Given the description of an element on the screen output the (x, y) to click on. 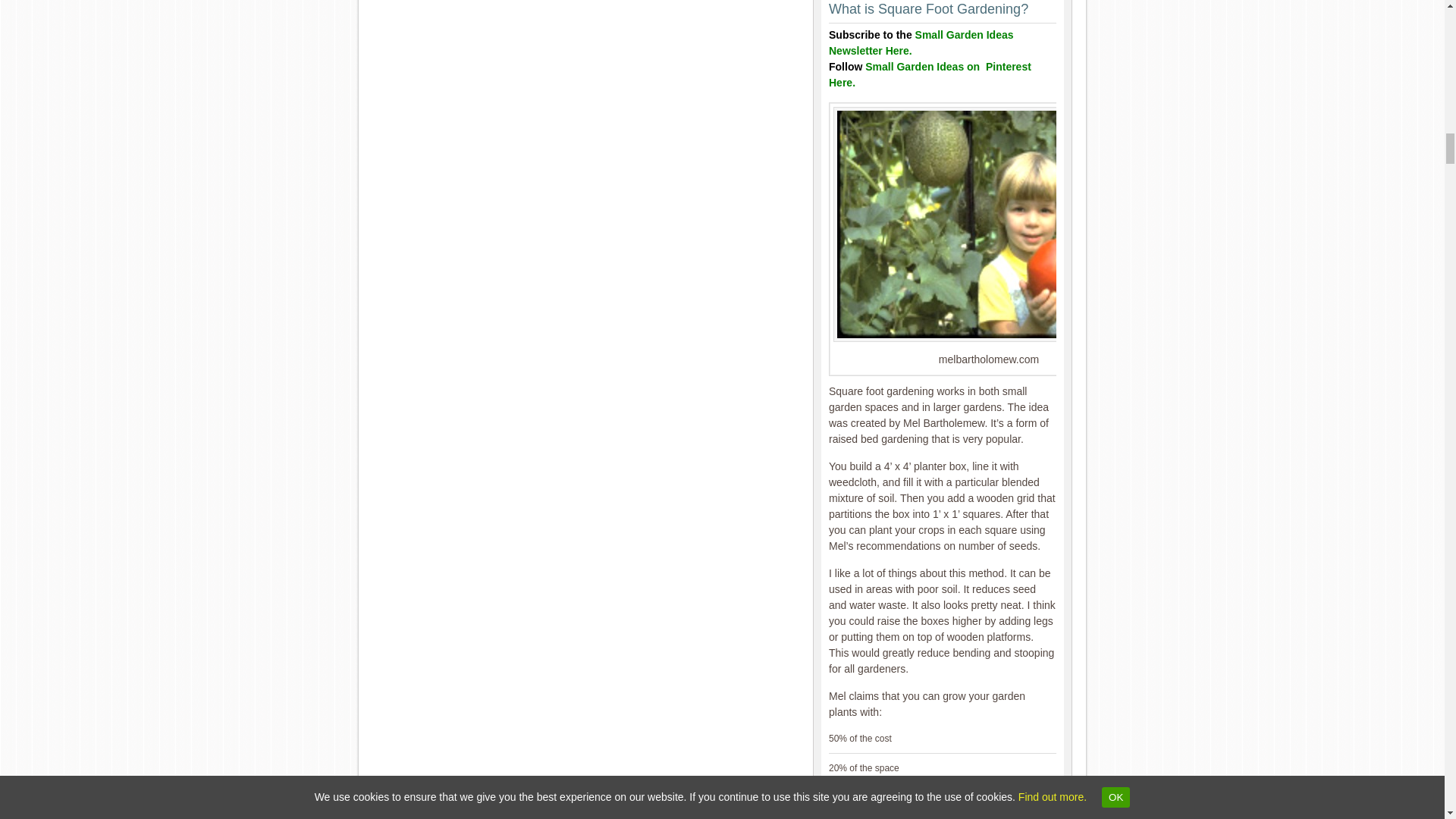
Small Garden Ideas on  Pinterest Here. (929, 74)
Small Garden Ideas Newsletter Here. (920, 42)
Pinterest (929, 74)
What is Square Foot Gardening? (988, 224)
What is Square Foot Gardening? (927, 8)
